Given the description of an element on the screen output the (x, y) to click on. 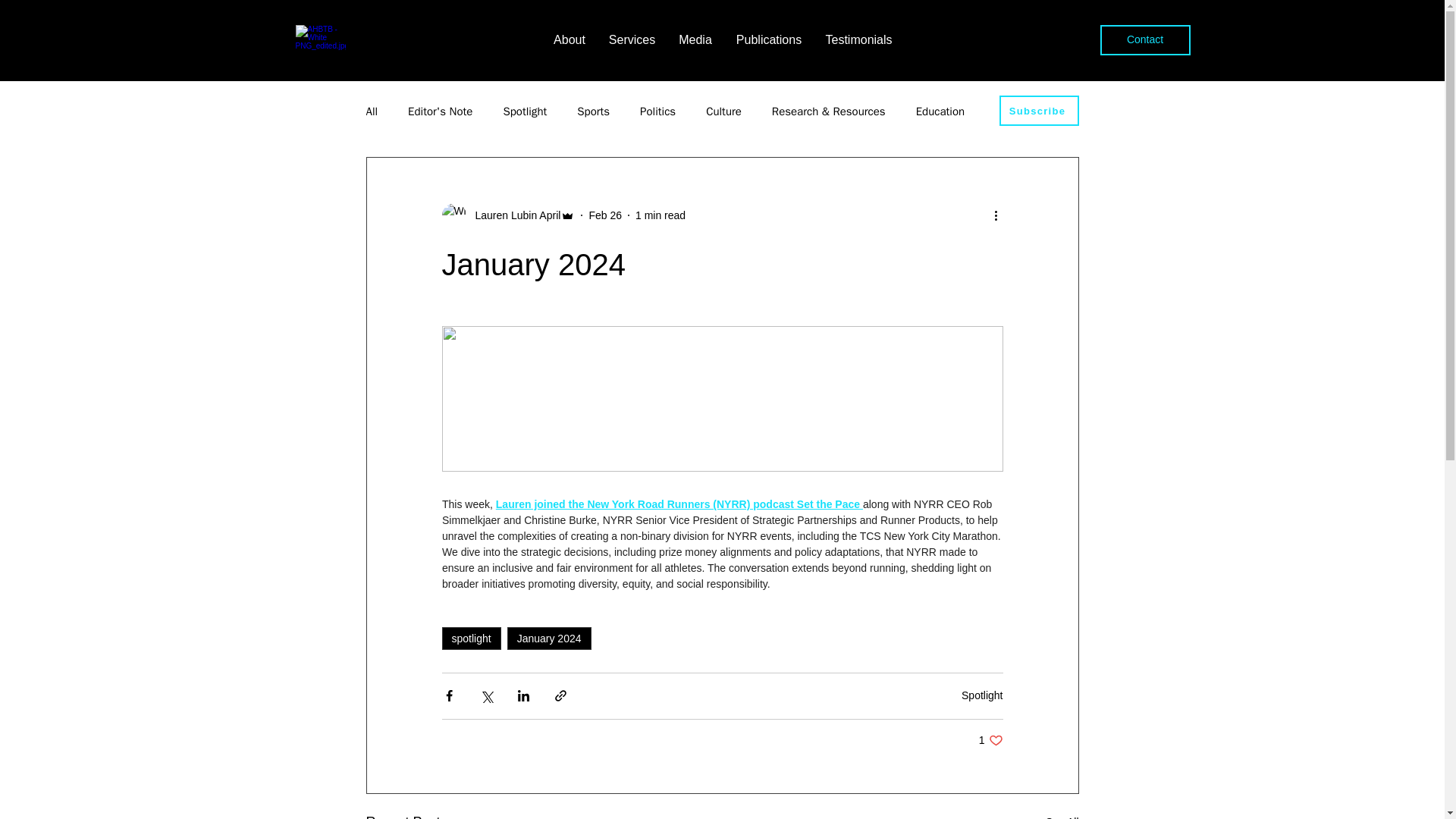
Sports (593, 111)
Spotlight (981, 695)
spotlight (470, 638)
See All (1061, 815)
Culture (723, 111)
Politics (657, 111)
Editor's Note (439, 111)
Testimonials (858, 39)
Publications (768, 39)
About (568, 39)
